Given the description of an element on the screen output the (x, y) to click on. 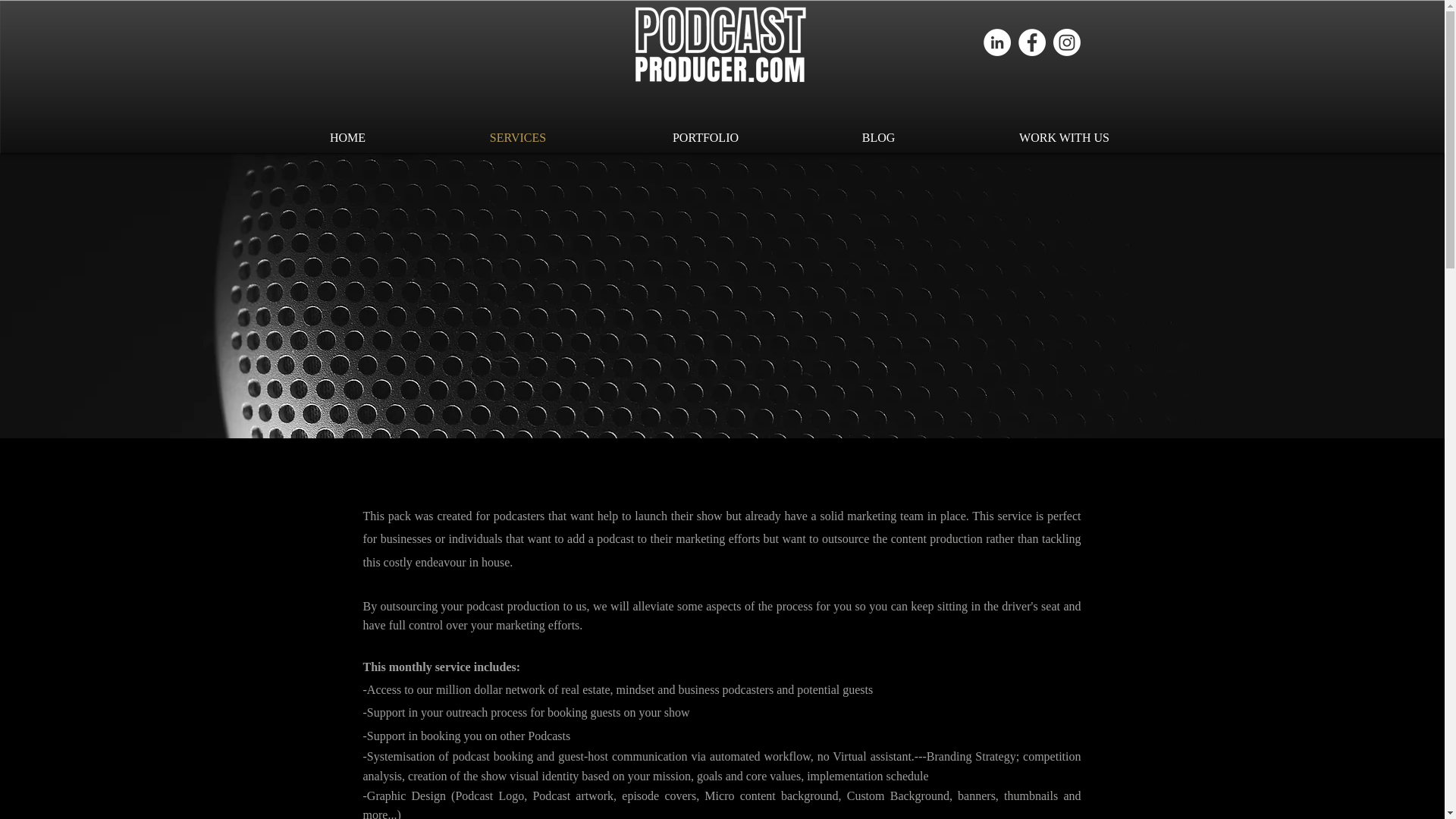
BLOG (878, 137)
HOME (346, 137)
WORK WITH US (1064, 137)
PORTFOLIO (706, 137)
SERVICES (517, 137)
